Given the description of an element on the screen output the (x, y) to click on. 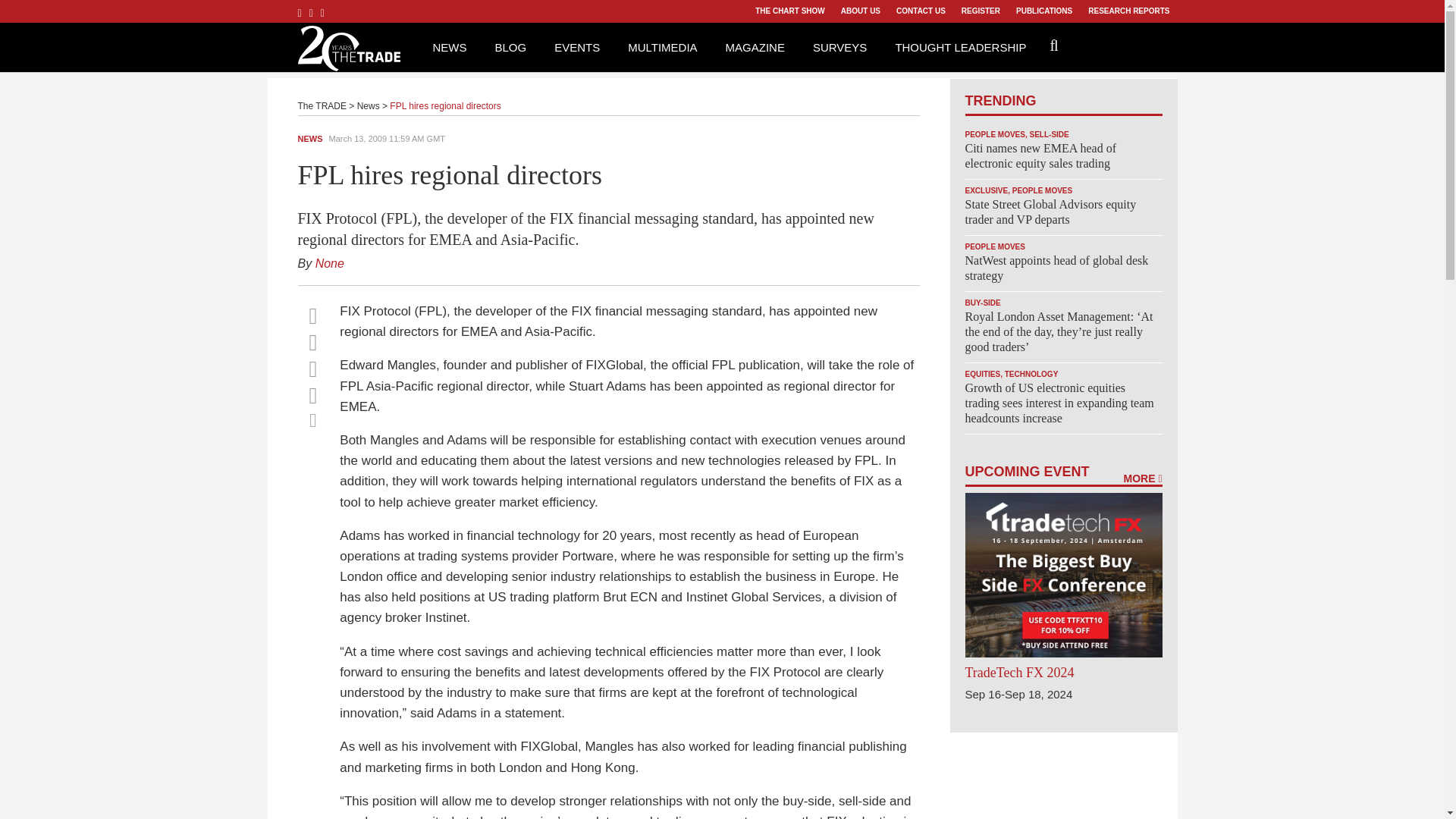
Go to The TRADE. (321, 105)
ABOUT US (860, 11)
PUBLICATIONS (1043, 11)
CONTACT US (920, 11)
Go to the News Category archives. (368, 105)
REGISTER (980, 11)
THE CHART SHOW (789, 11)
